Given the description of an element on the screen output the (x, y) to click on. 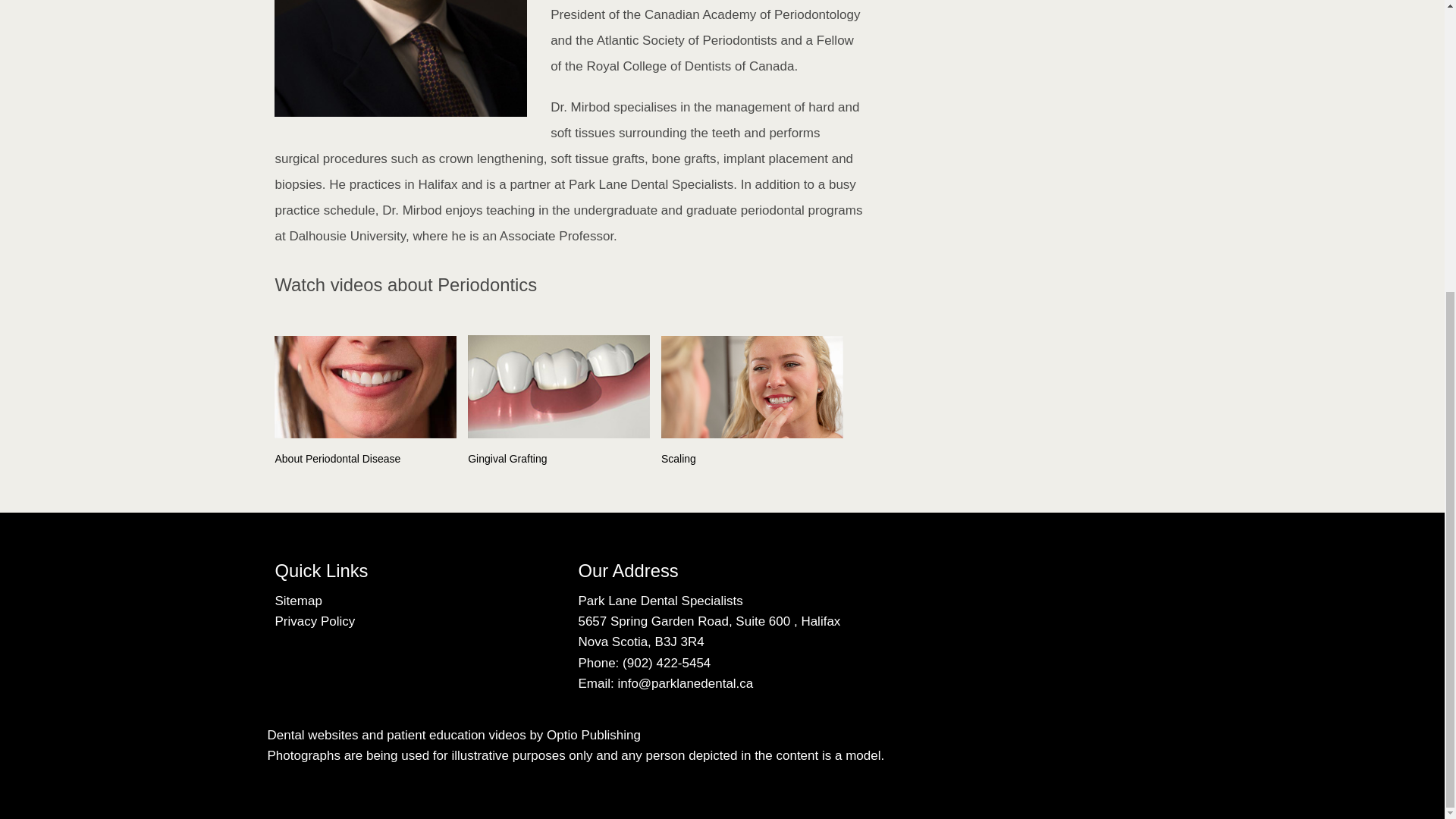
Sitemap (298, 600)
Dental websites (312, 735)
patient education videos (456, 735)
About Periodontal Disease (369, 401)
Privacy Policy (315, 621)
Scaling (755, 401)
Gingival Grafting (562, 400)
